Given the description of an element on the screen output the (x, y) to click on. 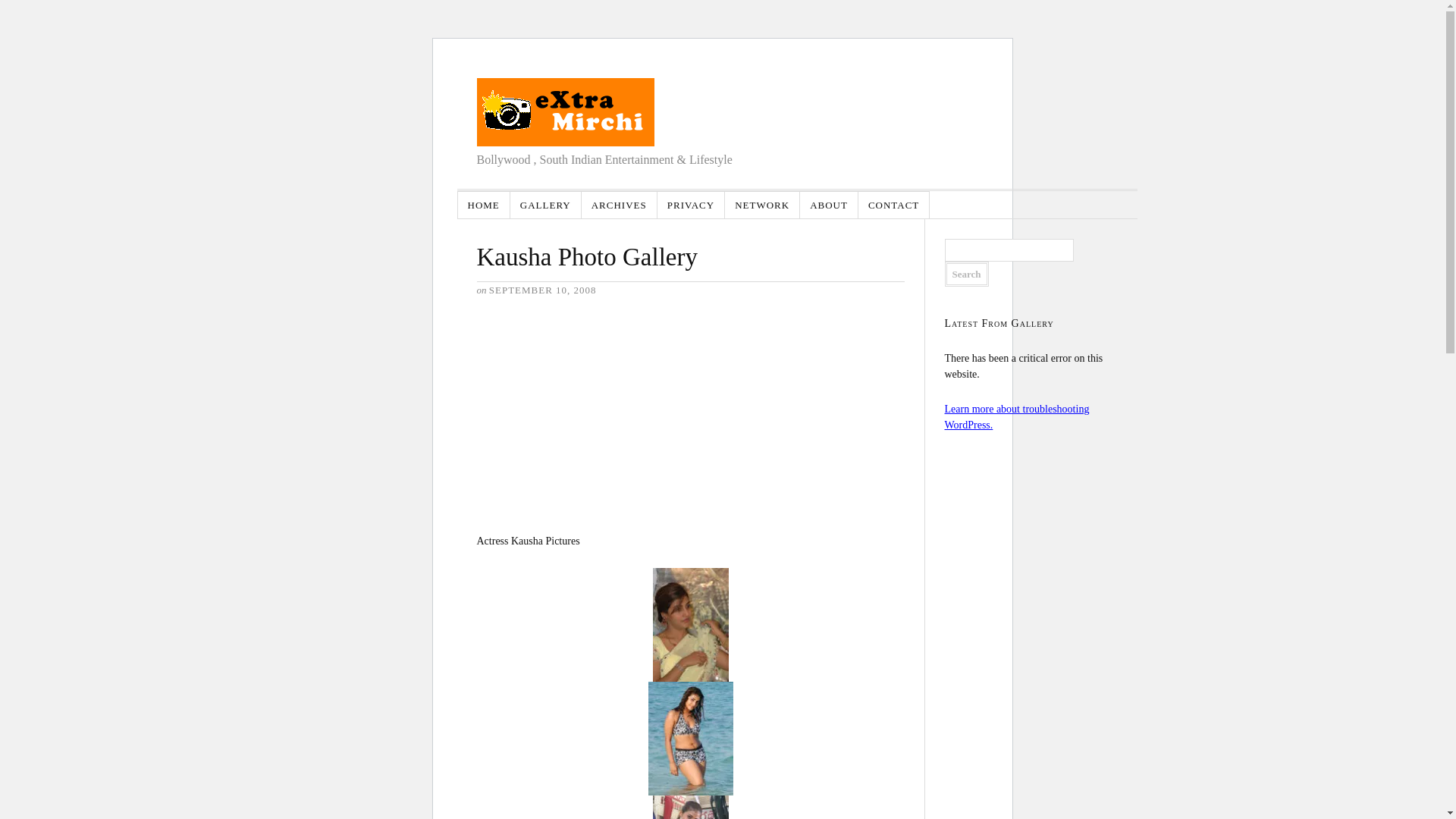
visit the home page (564, 111)
Advertisement (589, 412)
HOME (484, 204)
ARCHIVES (619, 204)
GALLERY (545, 204)
2008-09-10 (542, 289)
